Given the description of an element on the screen output the (x, y) to click on. 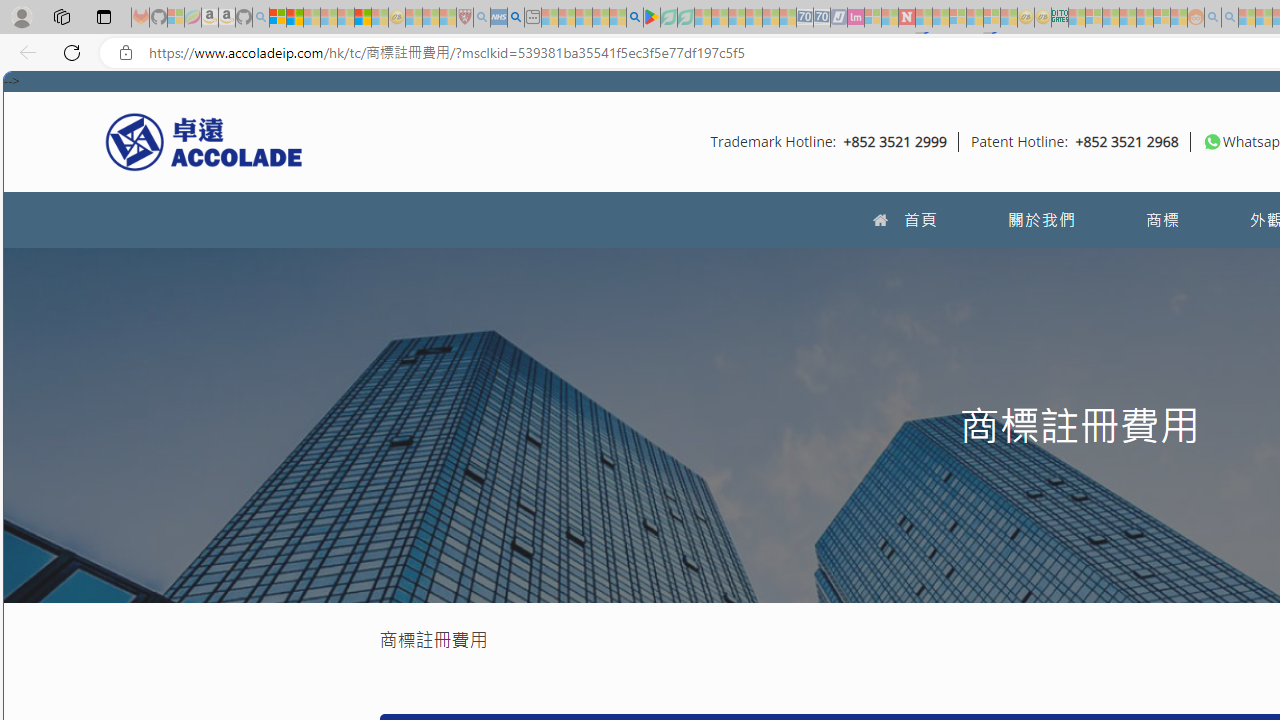
Latest Politics News & Archive | Newsweek.com - Sleeping (906, 17)
Microsoft Start - Sleeping (1247, 17)
Bluey: Let's Play! - Apps on Google Play (651, 17)
